Given the description of an element on the screen output the (x, y) to click on. 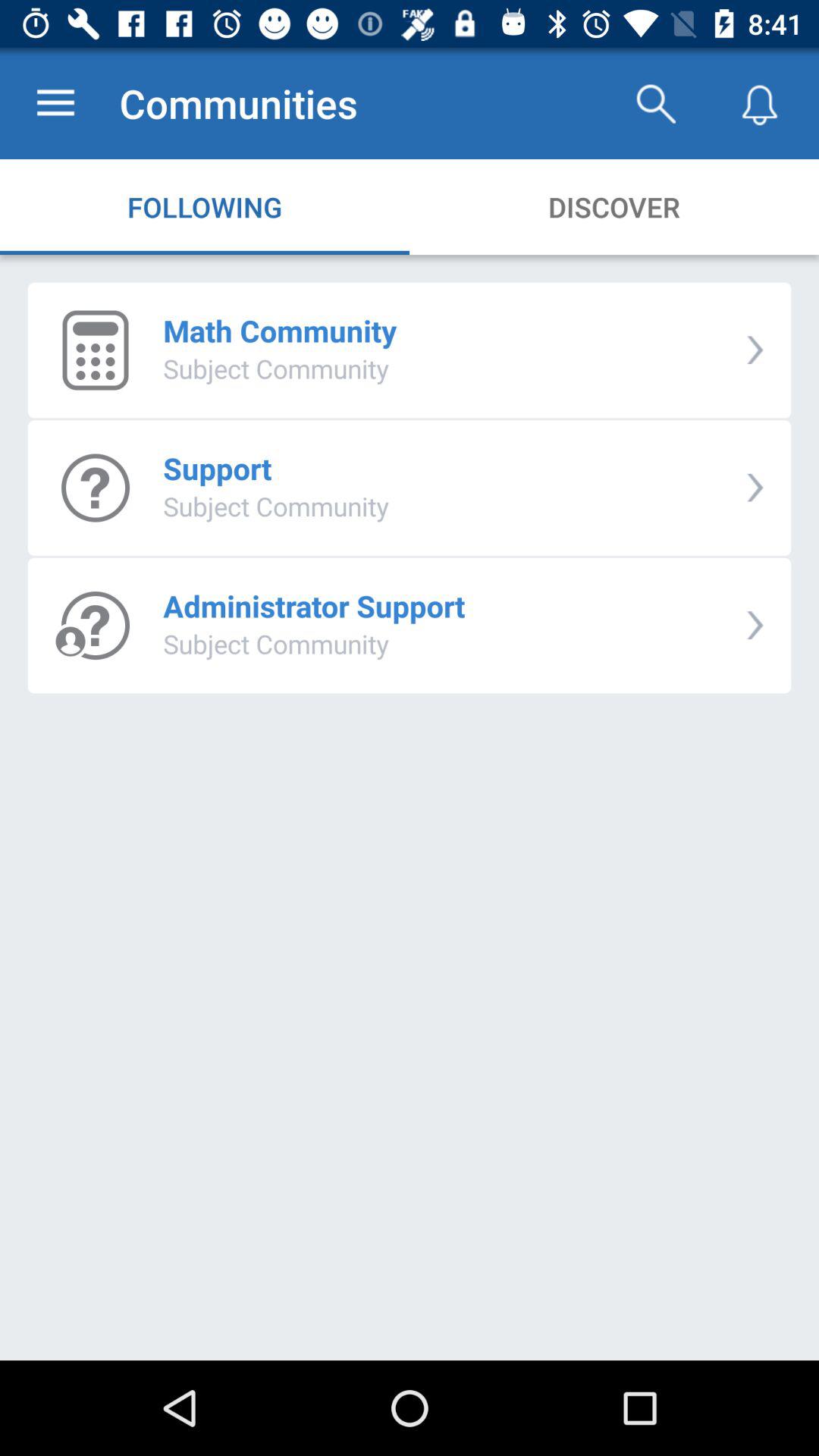
press icon above the subject community item (279, 330)
